Given the description of an element on the screen output the (x, y) to click on. 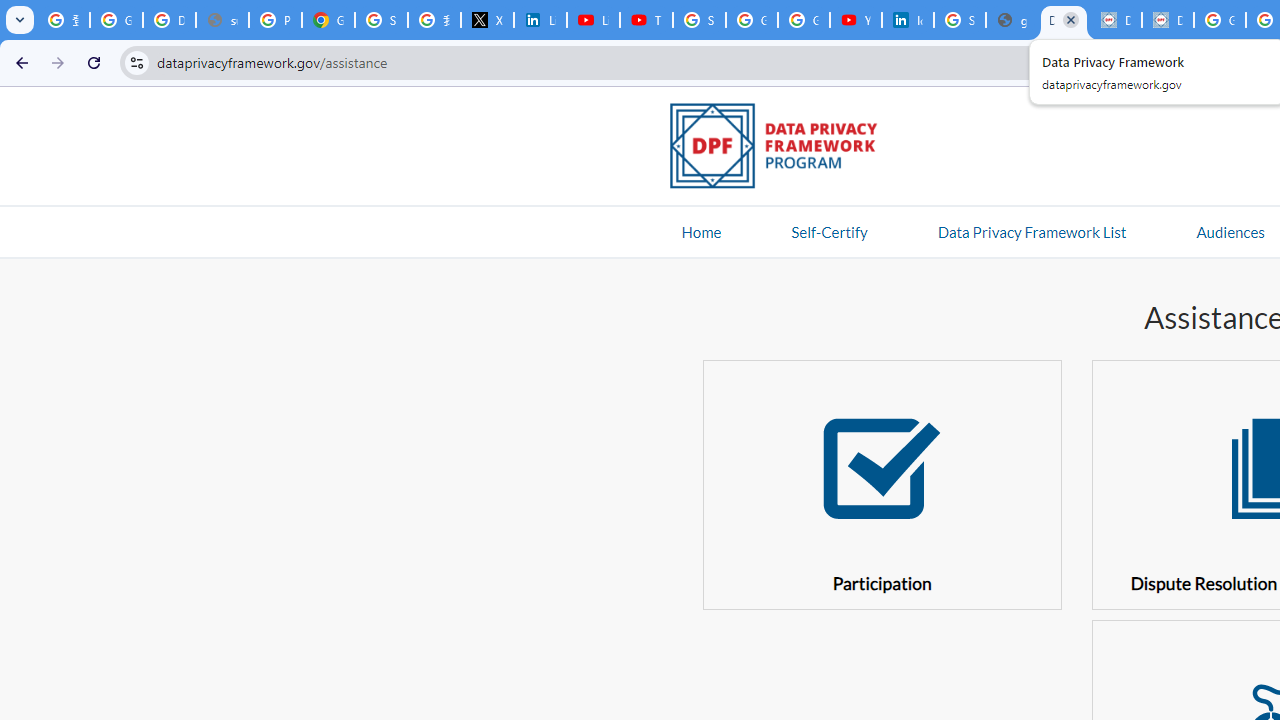
 Participation (881, 484)
Sign in - Google Accounts (381, 20)
Home (701, 231)
Data Privacy Framework Logo - Link to Homepage (783, 149)
Data Privacy Framework (1167, 20)
Self-Certify (829, 231)
AutomationID: navitem (1230, 231)
